Given the description of an element on the screen output the (x, y) to click on. 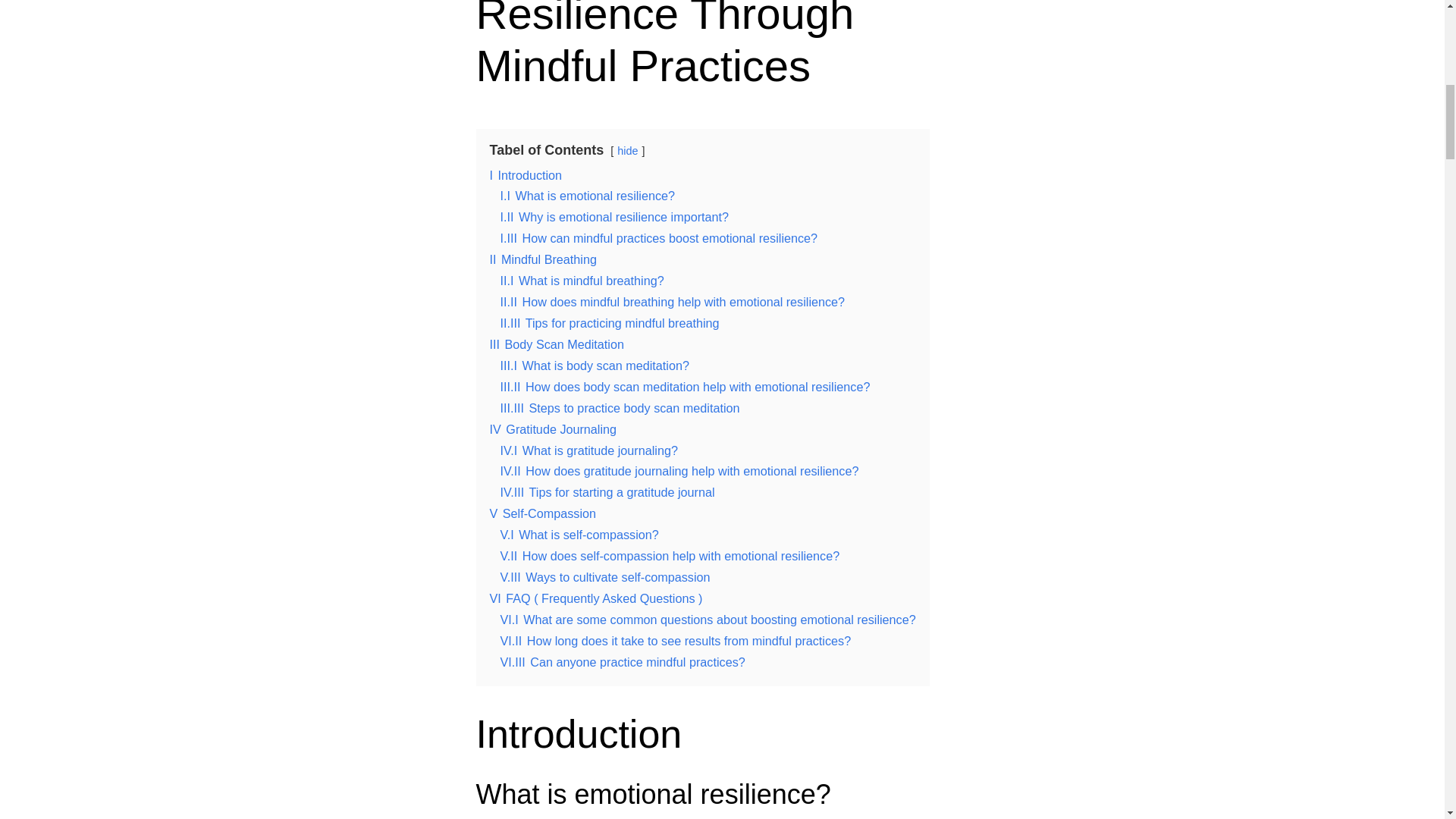
II.I What is mindful breathing? (581, 280)
V Self-Compassion (542, 513)
VI.III Can anyone practice mindful practices? (622, 662)
II Mindful Breathing (542, 259)
II.III Tips for practicing mindful breathing (609, 323)
I.II Why is emotional resilience important? (614, 216)
I.III How can mindful practices boost emotional resilience? (659, 237)
